Given the description of an element on the screen output the (x, y) to click on. 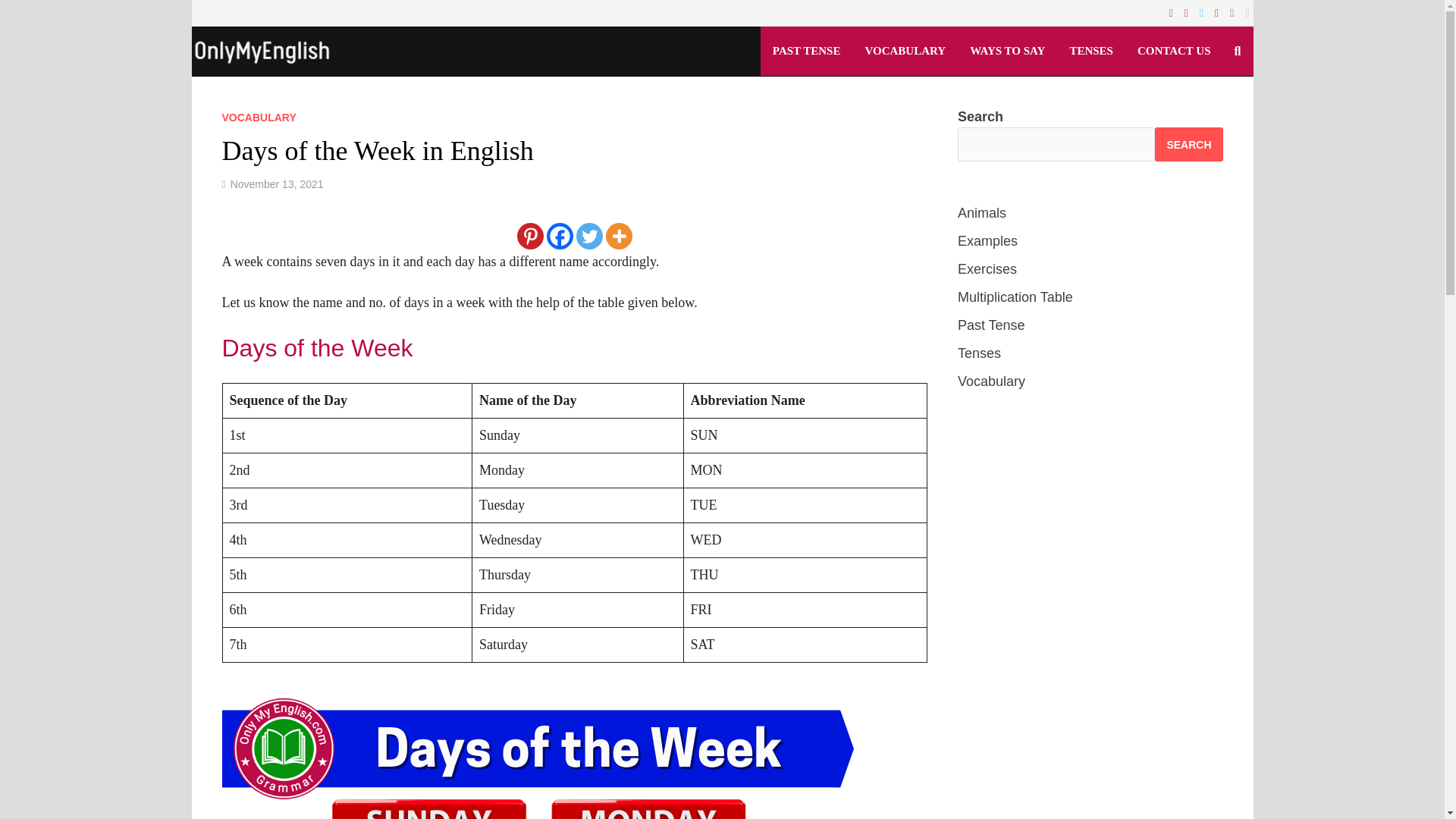
WAYS TO SAY (1007, 51)
Pinterest (1218, 11)
Facebook (560, 235)
PAST TENSE (806, 51)
Facebook (1173, 11)
VOCABULARY (904, 51)
Twitter (1203, 11)
CONTACT US (1174, 51)
Twitter (589, 235)
More (618, 235)
